Given the description of an element on the screen output the (x, y) to click on. 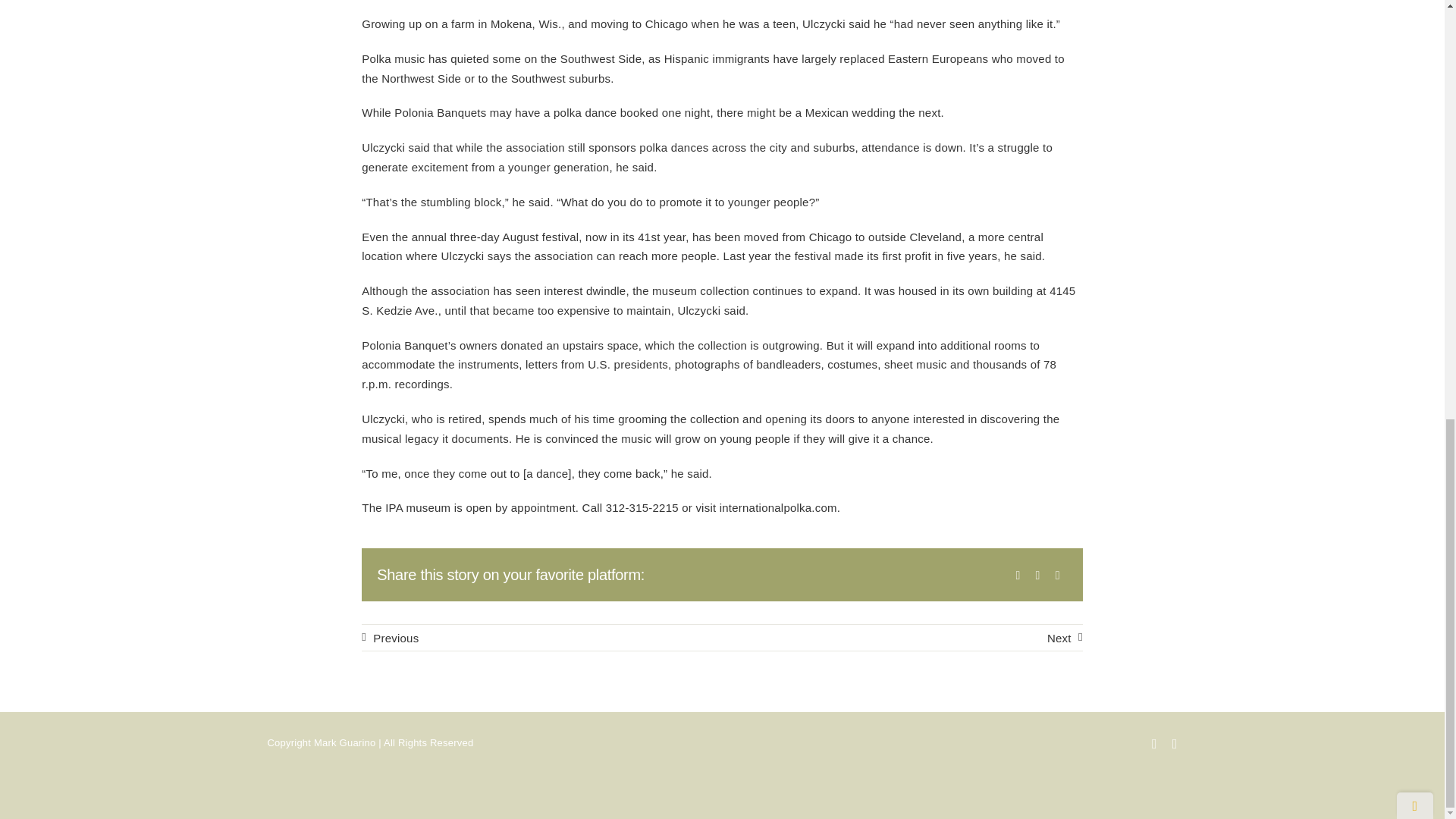
Next (1064, 637)
Twitter (1037, 574)
Previous (390, 637)
Facebook (1018, 574)
LinkedIn (1057, 574)
